Given the description of an element on the screen output the (x, y) to click on. 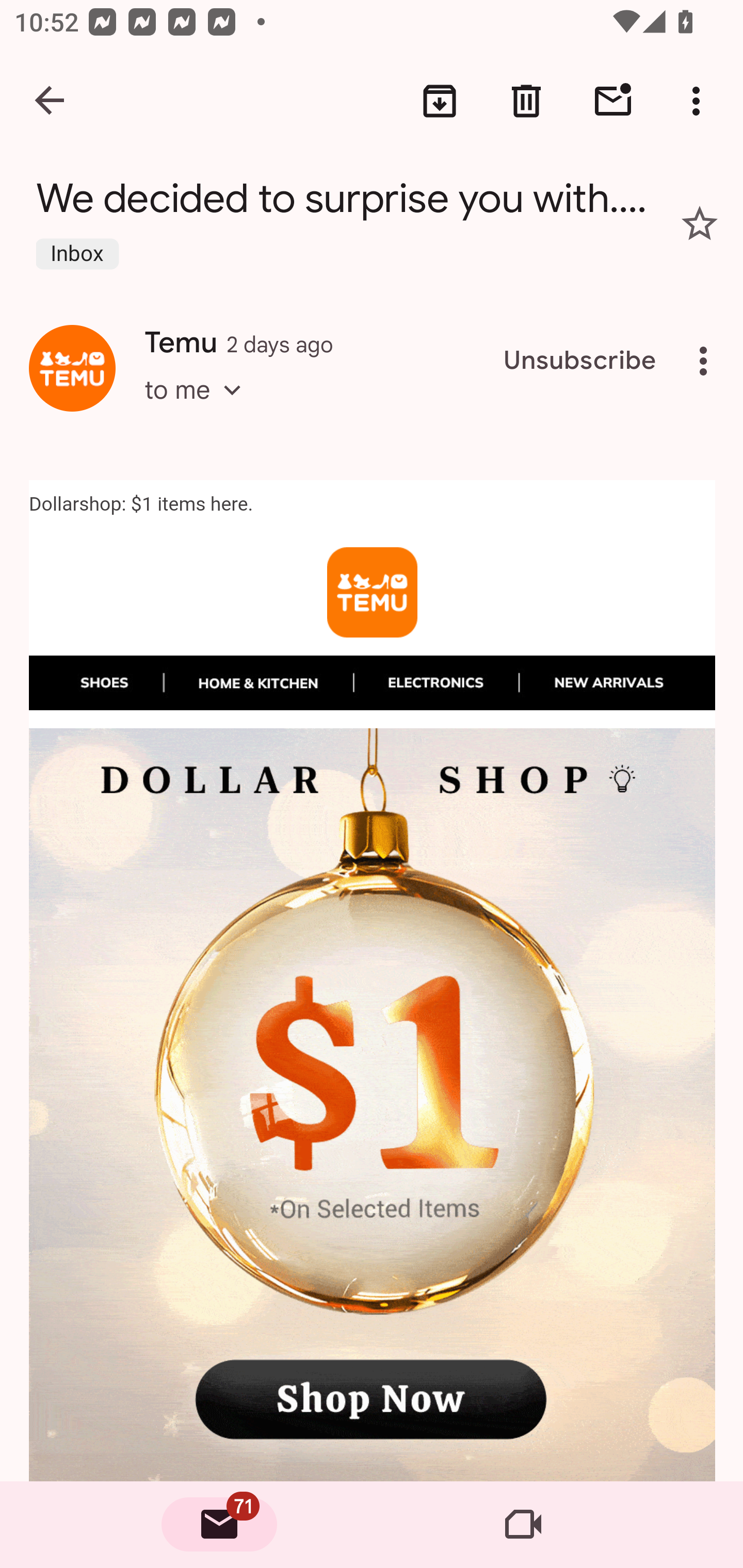
Navigate up (50, 101)
Archive (439, 101)
Delete (525, 101)
Mark unread (612, 101)
More options (699, 101)
Add star (699, 223)
Unsubscribe (579, 361)
More options (706, 361)
Show contact information for Temu (71, 367)
to me (199, 408)
Meet (523, 1524)
